Given the description of an element on the screen output the (x, y) to click on. 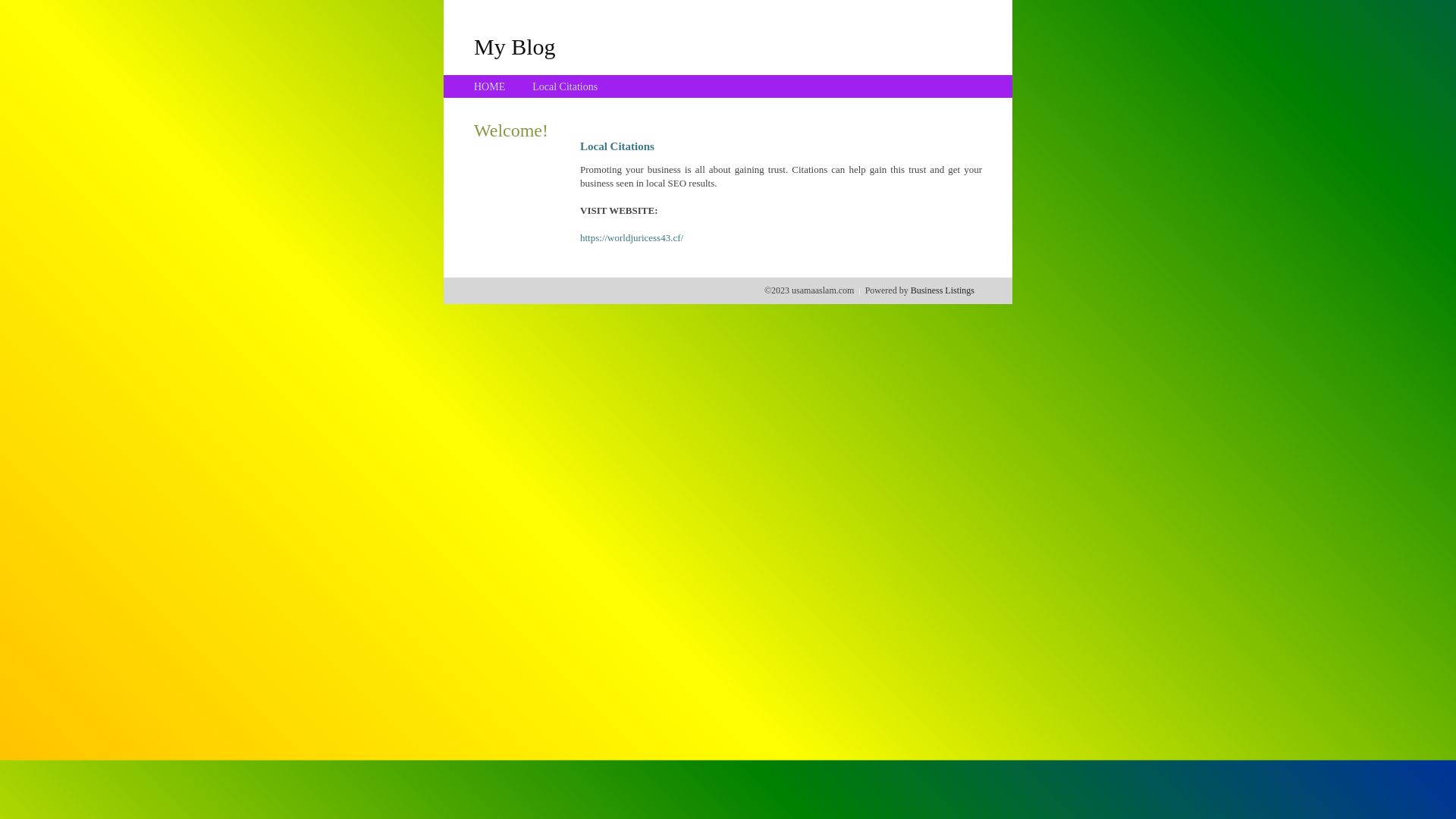
HOME Element type: text (489, 86)
My Blog Element type: text (514, 46)
Local Citations Element type: text (564, 86)
Business Listings Element type: text (942, 290)
https://worldjuricess43.cf/ Element type: text (631, 237)
